Given the description of an element on the screen output the (x, y) to click on. 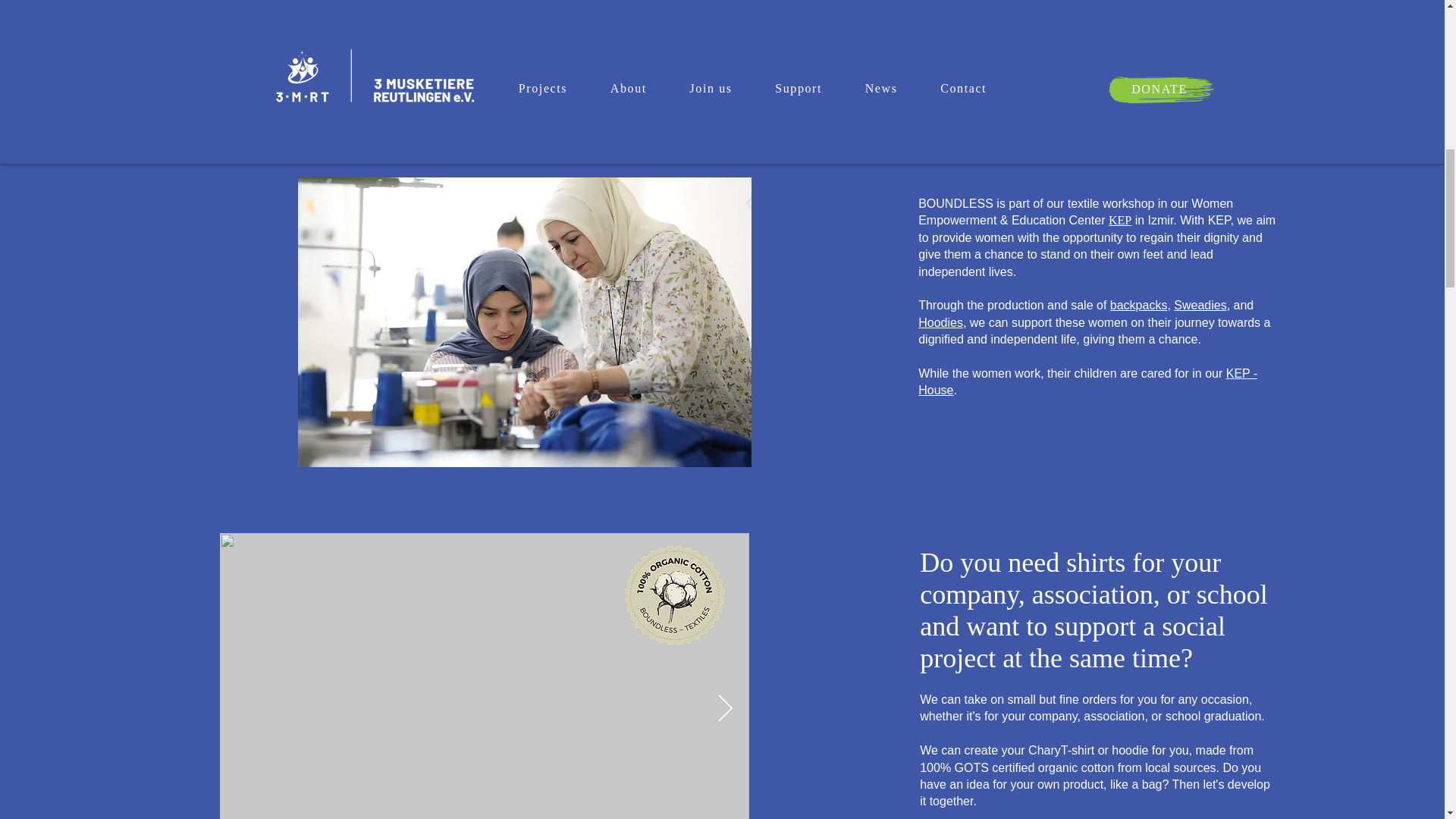
Shop (973, 72)
KEP - House (1087, 381)
KEP (1119, 219)
backpacks (1138, 305)
Hoodies (940, 322)
Sweadies (1199, 305)
